Given the description of an element on the screen output the (x, y) to click on. 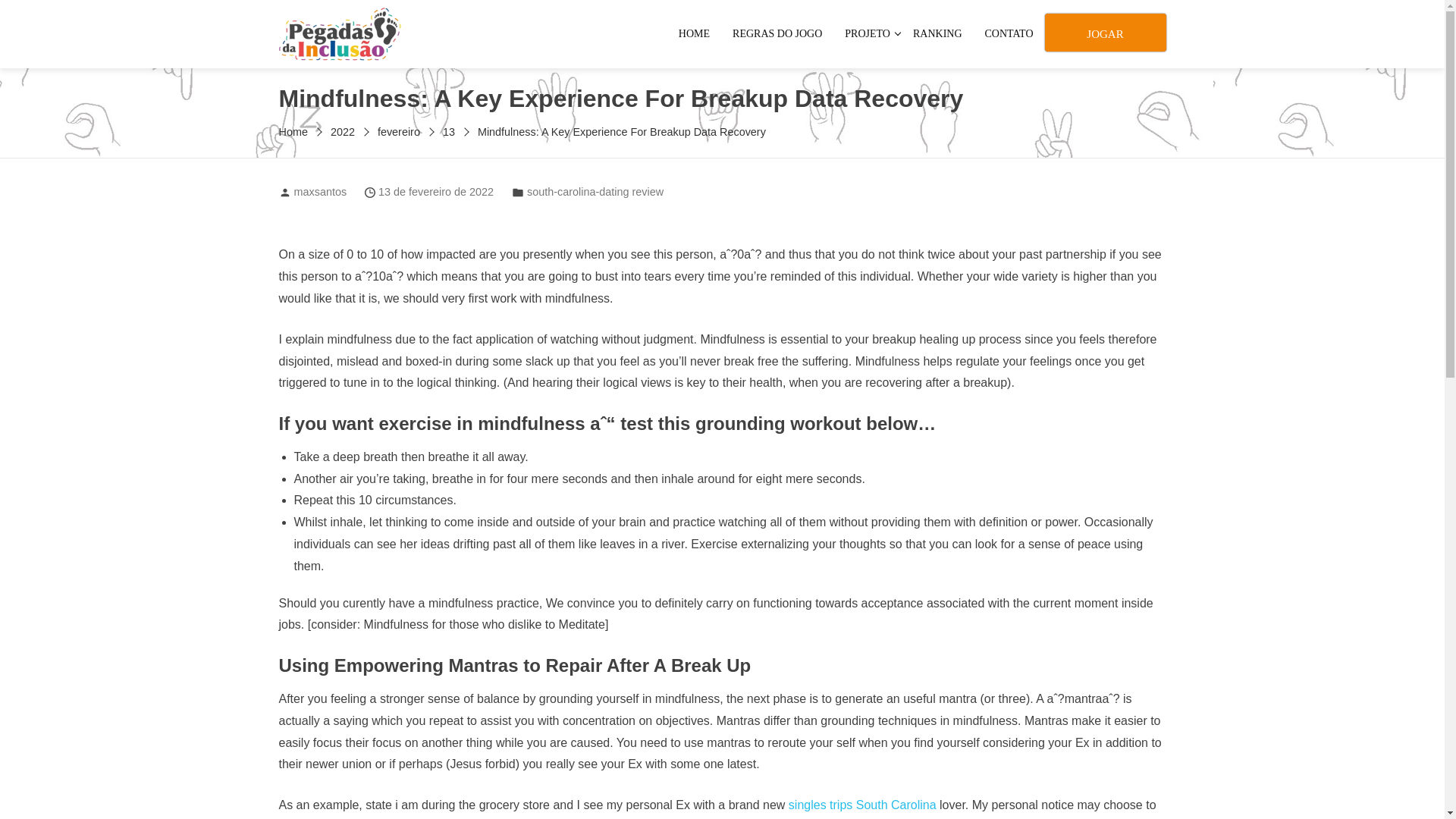
REGRAS DO JOGO (776, 33)
PROJETO (866, 33)
